Given the description of an element on the screen output the (x, y) to click on. 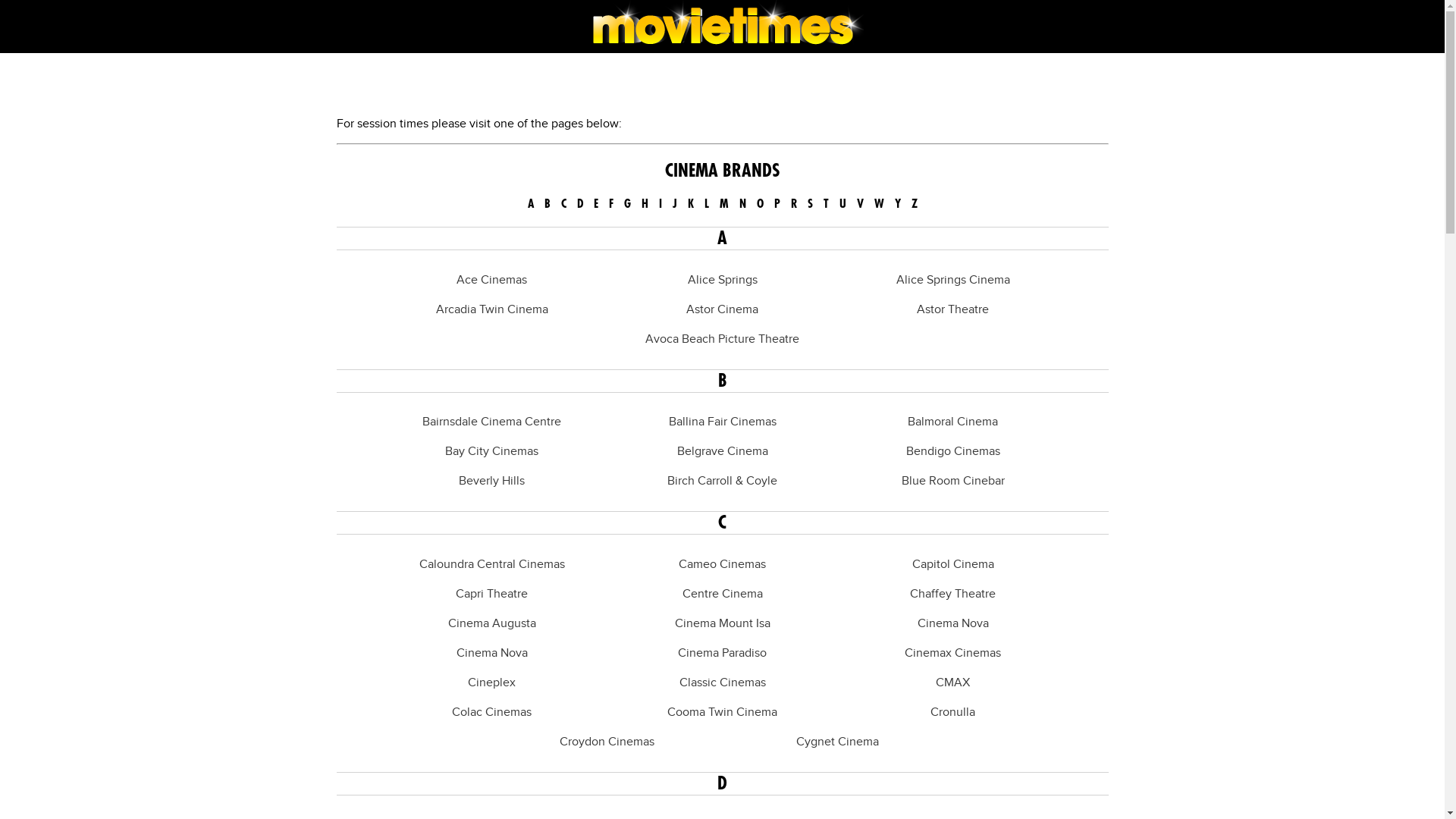
Caloundra Central Cinemas Element type: text (491, 564)
Cinemax Cinemas Element type: text (952, 653)
Bendigo Cinemas Element type: text (952, 451)
Capitol Cinema Element type: text (952, 564)
Cinema Nova Element type: text (491, 653)
Cinema Paradiso Element type: text (721, 653)
Bay City Cinemas Element type: text (491, 451)
W Element type: text (878, 203)
F Element type: text (610, 203)
P Element type: text (776, 203)
Alice Springs Element type: text (721, 280)
S Element type: text (809, 203)
T Element type: text (825, 203)
Z Element type: text (914, 203)
J Element type: text (673, 203)
Cooma Twin Cinema Element type: text (722, 712)
Alice Springs Cinema Element type: text (953, 280)
Birch Carroll & Coyle Element type: text (722, 480)
M Element type: text (723, 203)
H Element type: text (644, 203)
Colac Cinemas Element type: text (491, 712)
CMAX Element type: text (952, 682)
Beverly Hills Element type: text (491, 480)
K Element type: text (690, 203)
L Element type: text (705, 203)
Cineplex Element type: text (491, 682)
Cinema Augusta Element type: text (491, 623)
V Element type: text (859, 203)
D Element type: text (579, 203)
B Element type: text (547, 203)
Cronulla Element type: text (952, 712)
N Element type: text (741, 203)
Bairnsdale Cinema Centre Element type: text (491, 421)
I Element type: text (659, 203)
Classic Cinemas Element type: text (722, 682)
Balmoral Cinema Element type: text (952, 421)
Chaffey Theatre Element type: text (952, 593)
Cinema Mount Isa Element type: text (722, 623)
Centre Cinema Element type: text (722, 593)
Cameo Cinemas Element type: text (721, 564)
Ballina Fair Cinemas Element type: text (722, 421)
Capri Theatre Element type: text (491, 593)
A Element type: text (530, 203)
Cygnet Cinema Element type: text (837, 741)
Astor Cinema Element type: text (722, 309)
Ace Cinemas Element type: text (491, 280)
G Element type: text (626, 203)
Y Element type: text (897, 203)
U Element type: text (841, 203)
Astor Theatre Element type: text (952, 309)
C Element type: text (563, 203)
E Element type: text (595, 203)
Croydon Cinemas Element type: text (606, 741)
O Element type: text (759, 203)
Belgrave Cinema Element type: text (721, 451)
Cinema Nova Element type: text (952, 623)
Avoca Beach Picture Theatre Element type: text (722, 339)
R Element type: text (793, 203)
Arcadia Twin Cinema Element type: text (491, 309)
Blue Room Cinebar Element type: text (952, 480)
